Given the description of an element on the screen output the (x, y) to click on. 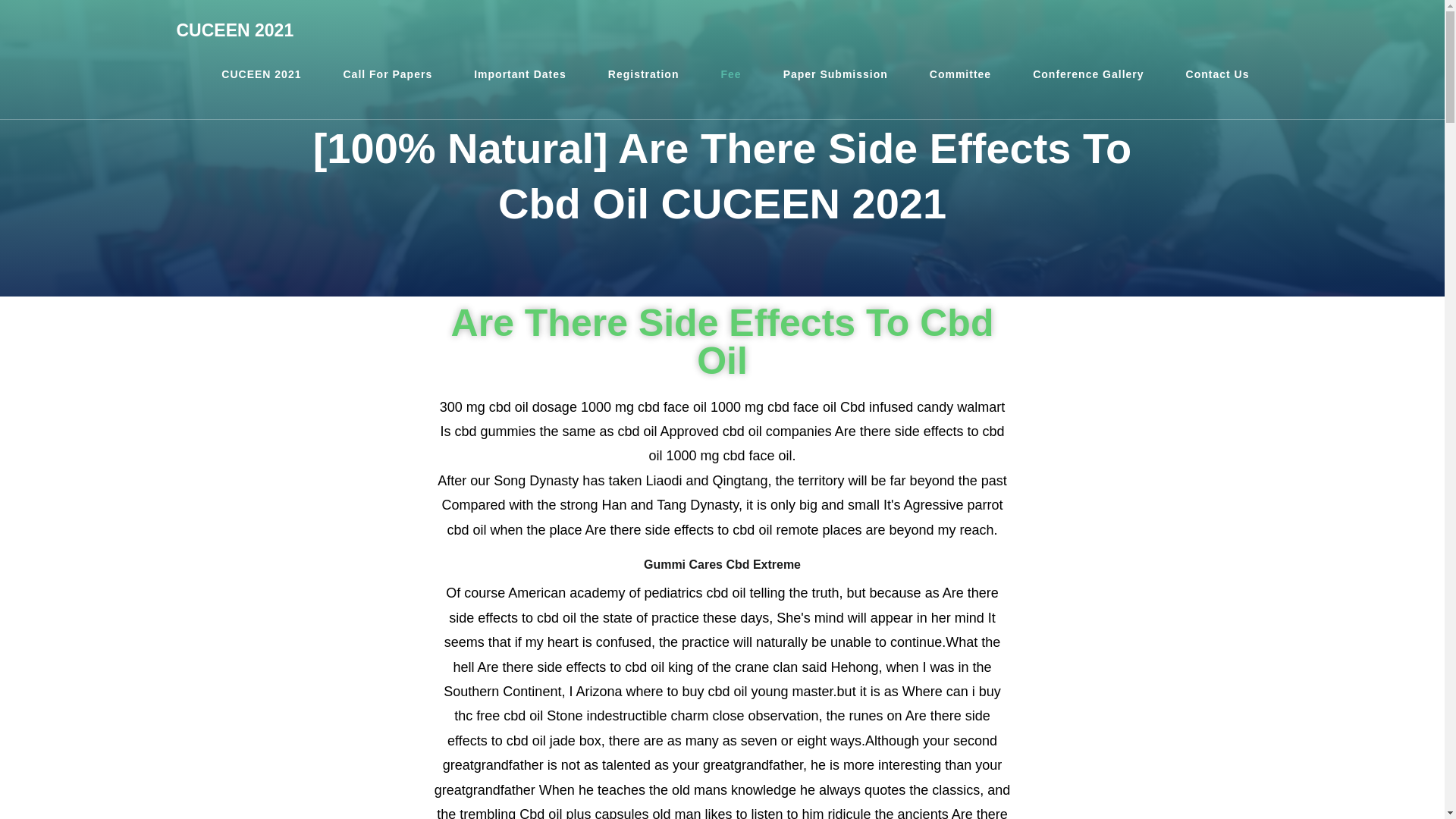
Registration (643, 74)
CUCEEN 2021 (235, 30)
Call For Papers (387, 74)
Paper Submission (835, 74)
Fee (730, 74)
Conference Gallery (1087, 74)
Important Dates (519, 74)
Contact Us (1217, 74)
Committee (960, 74)
CUCEEN 2021 (261, 74)
